Given the description of an element on the screen output the (x, y) to click on. 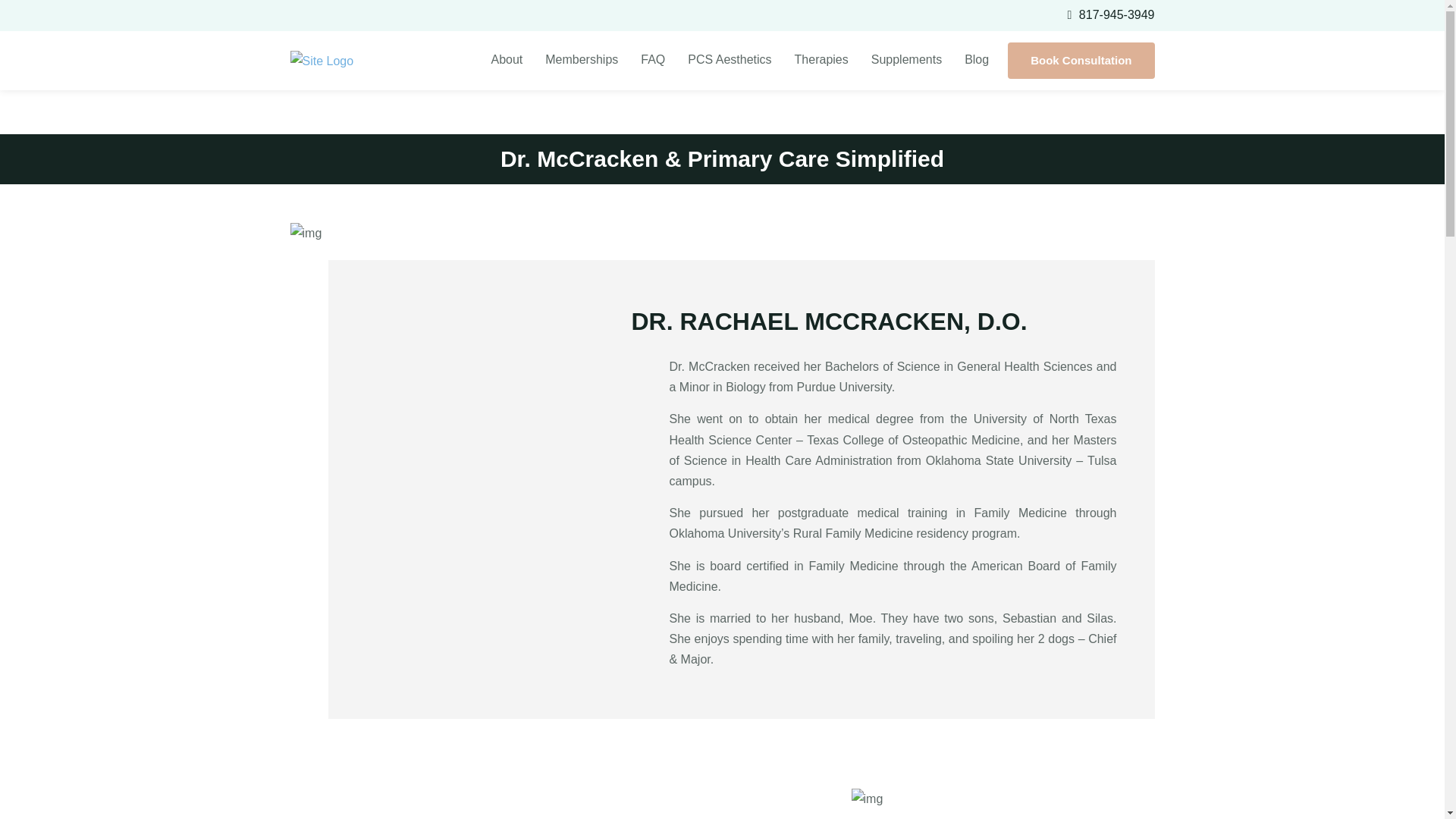
FAQ (652, 59)
Memberships (581, 59)
Blog (976, 59)
817-945-3949 (1116, 14)
PCS Aesthetics (730, 59)
Book Consultation (1080, 60)
About (506, 59)
About (506, 59)
FAQ (652, 59)
Therapies (821, 59)
Supplements (906, 59)
PCS Aesthetics (730, 59)
Memberships (581, 59)
